Given the description of an element on the screen output the (x, y) to click on. 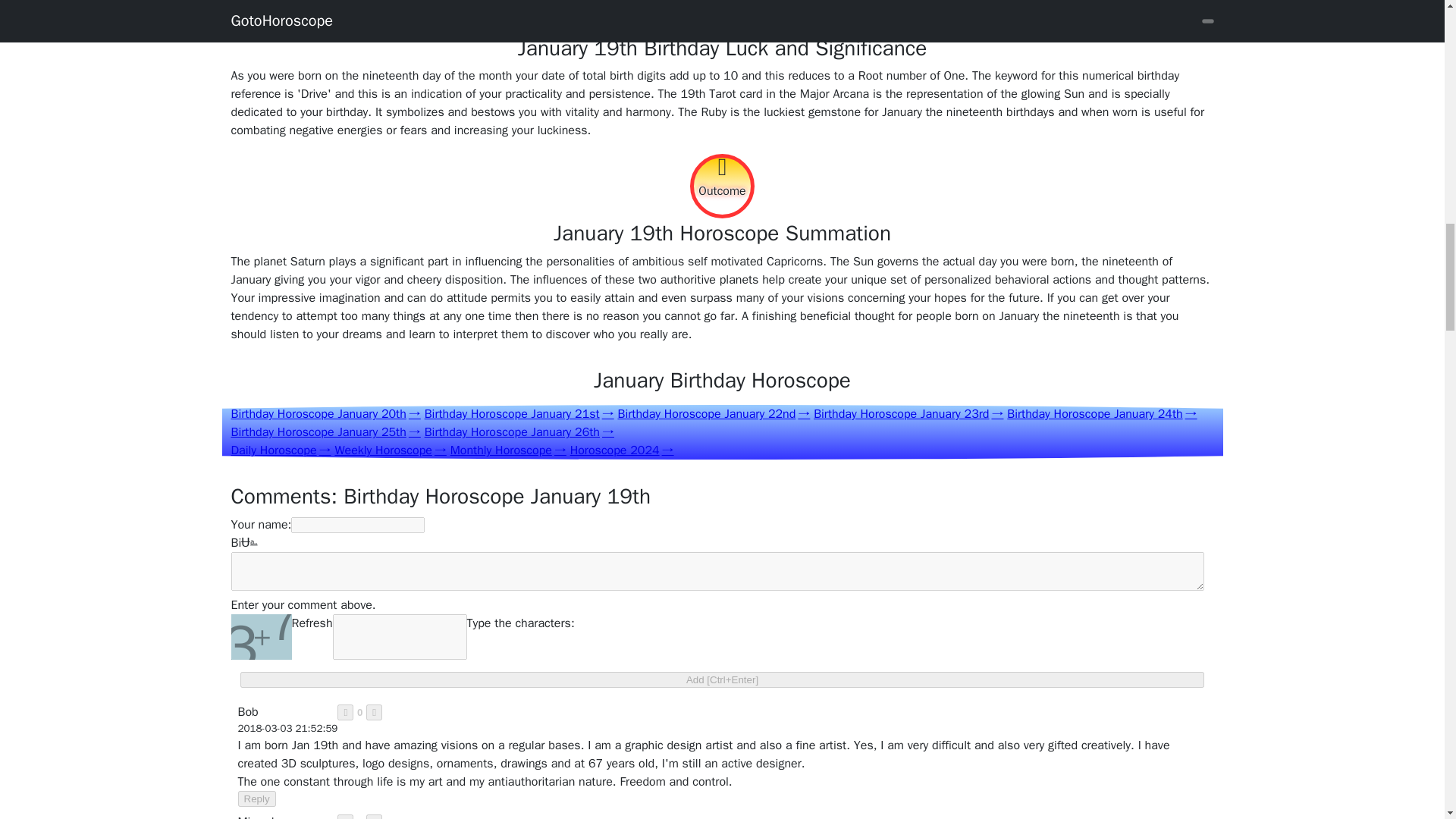
Weekly Horoscope (389, 450)
Birthday Horoscope January 24th (1101, 413)
Monthly Horoscope (507, 450)
Birthday Horoscope January 25th (325, 432)
Birthday Horoscope January 22nd (713, 413)
Monthly Horoscope (507, 450)
Birthday Horoscope January 20th (325, 413)
Refresh (311, 637)
Daily Horoscope (280, 450)
Reply (257, 798)
